Given the description of an element on the screen output the (x, y) to click on. 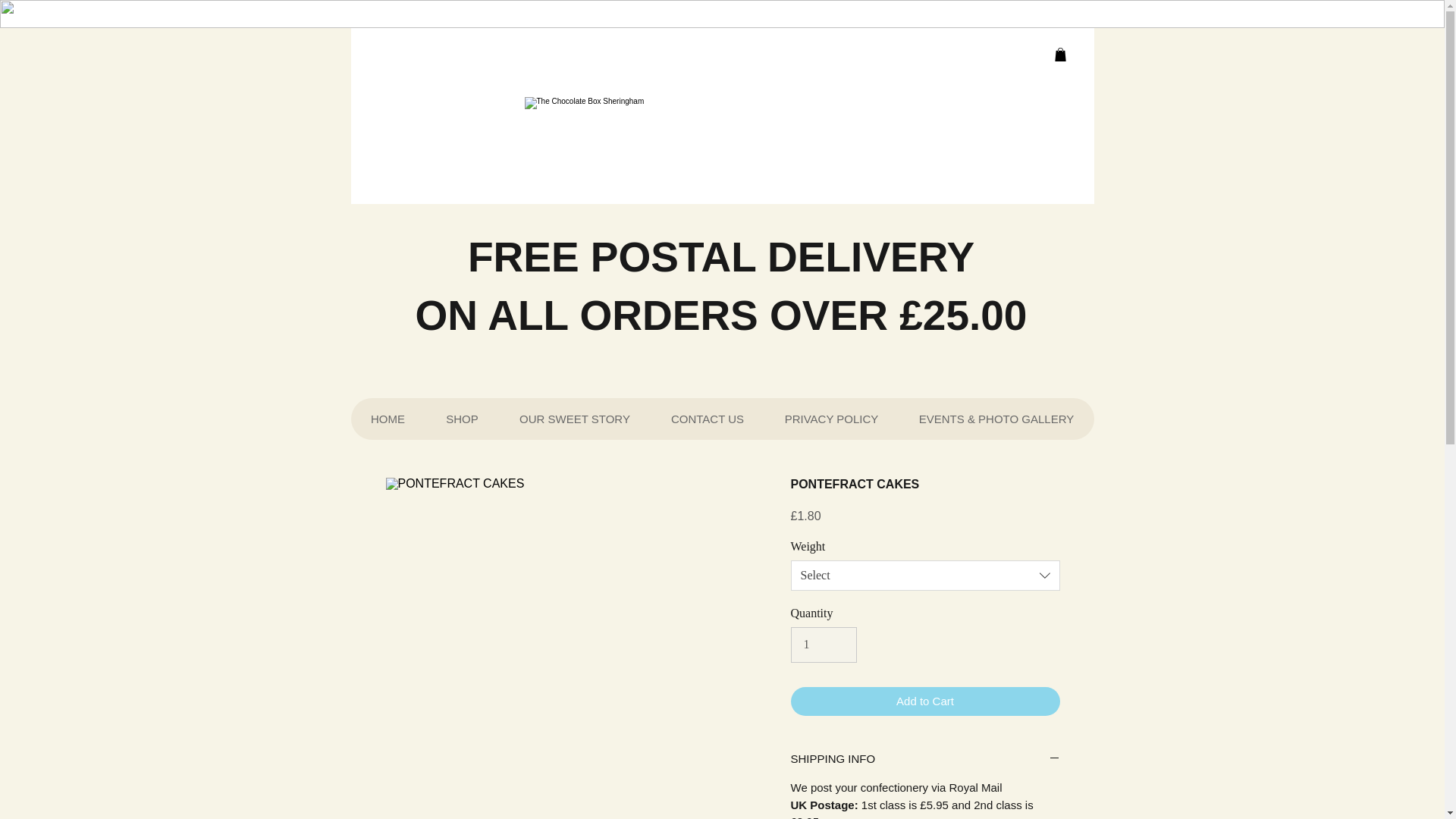
OUR SWEET STORY (574, 418)
HOME (387, 418)
Add to Cart (924, 701)
CONTACT US (707, 418)
PRIVACY POLICY (831, 418)
1 (823, 644)
Select (924, 575)
SHIPPING INFO (924, 759)
SHOP (461, 418)
